Given the description of an element on the screen output the (x, y) to click on. 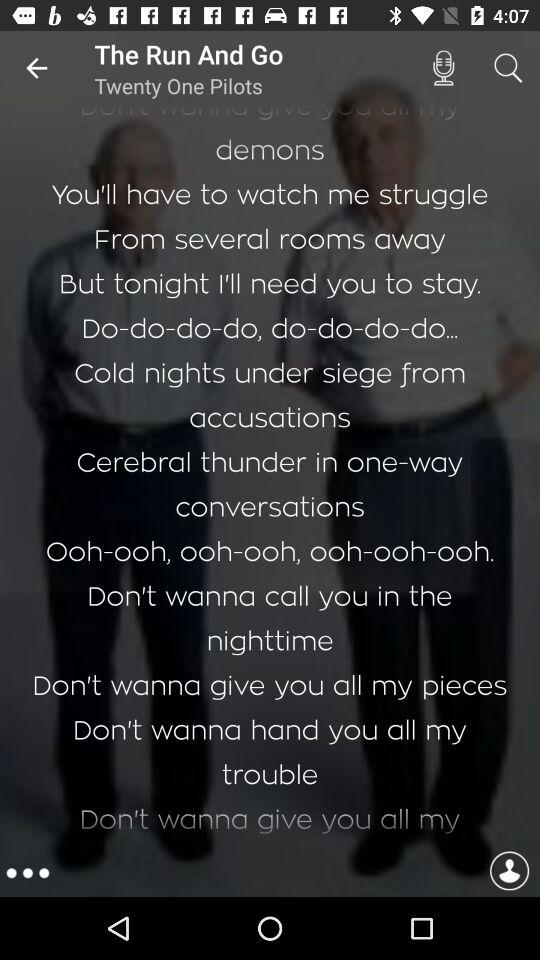
select the icon next to the the run and (36, 68)
